Given the description of an element on the screen output the (x, y) to click on. 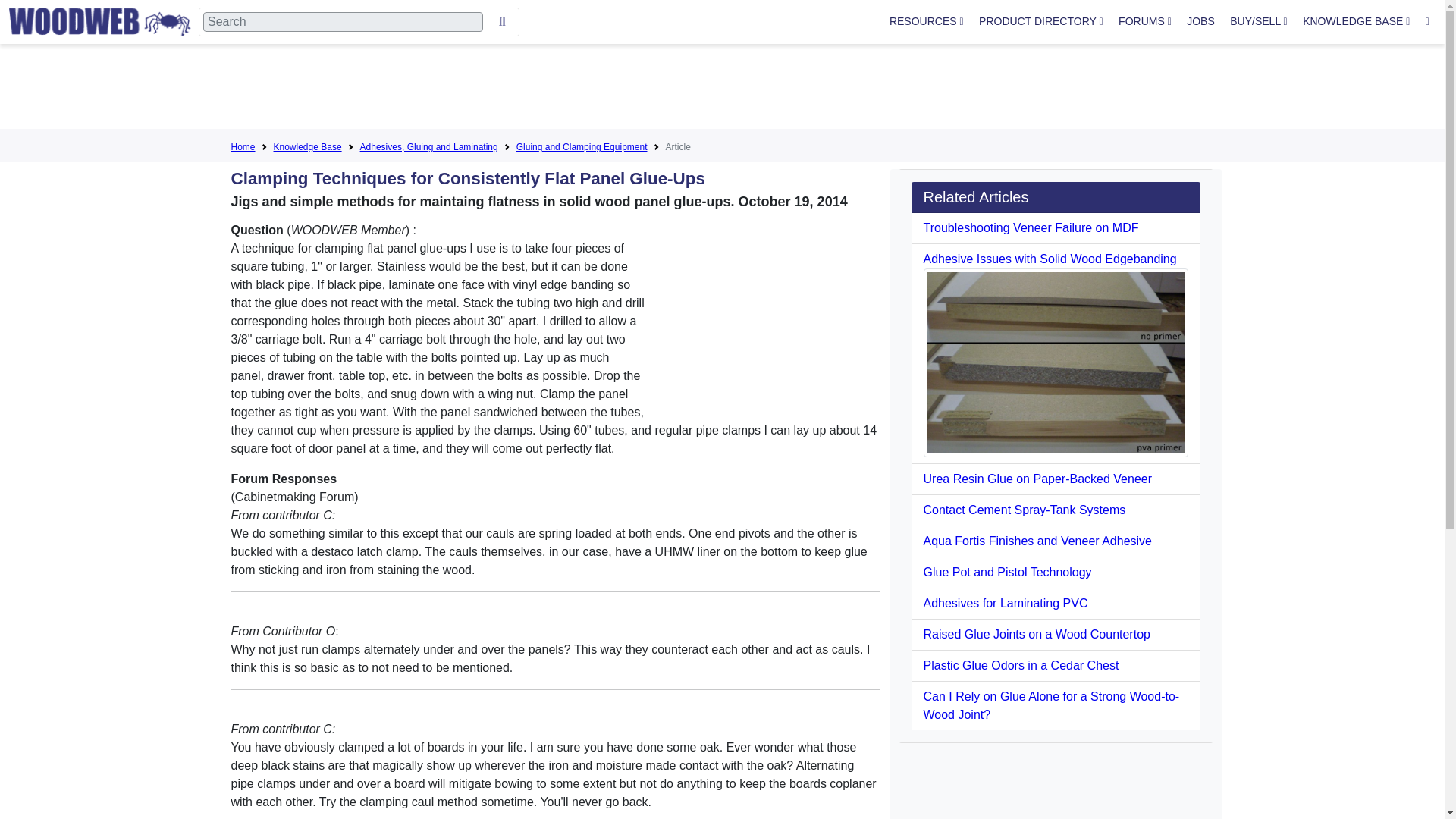
Advertisement (721, 89)
PRODUCT DIRECTORY (1040, 21)
Advertisement (765, 316)
RESOURCES (926, 21)
